Given the description of an element on the screen output the (x, y) to click on. 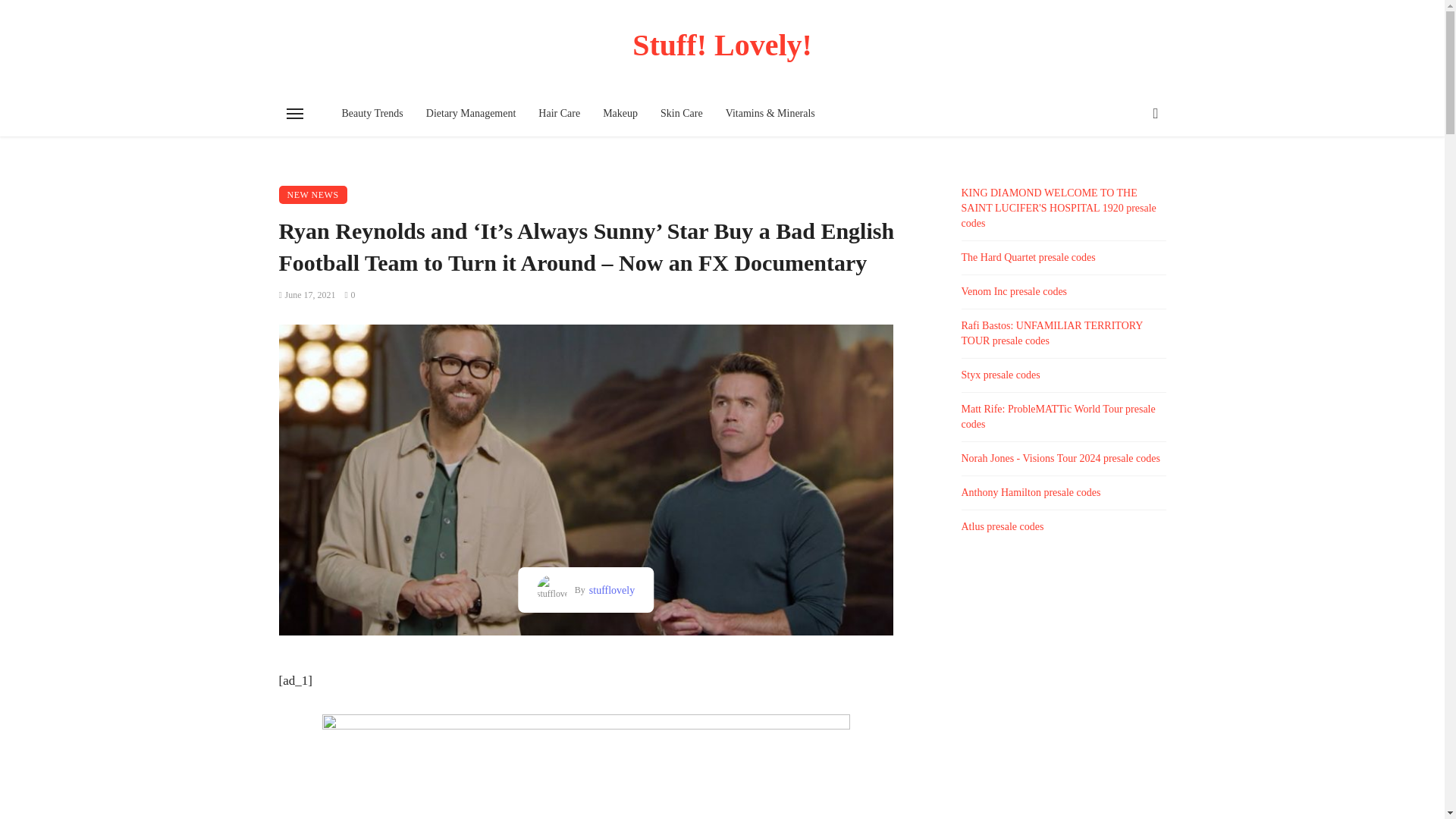
Hair Care (559, 113)
Stuff! Lovely! (722, 45)
Skin Care (681, 113)
Makeup (620, 113)
0 Comments (349, 294)
stufflovely (609, 590)
NEW NEWS (313, 194)
June 17, 2021 at 10:22 pm (307, 294)
0 (349, 294)
Dietary Management (470, 113)
Posts by stufflovely (609, 590)
Beauty Trends (372, 113)
